Given the description of an element on the screen output the (x, y) to click on. 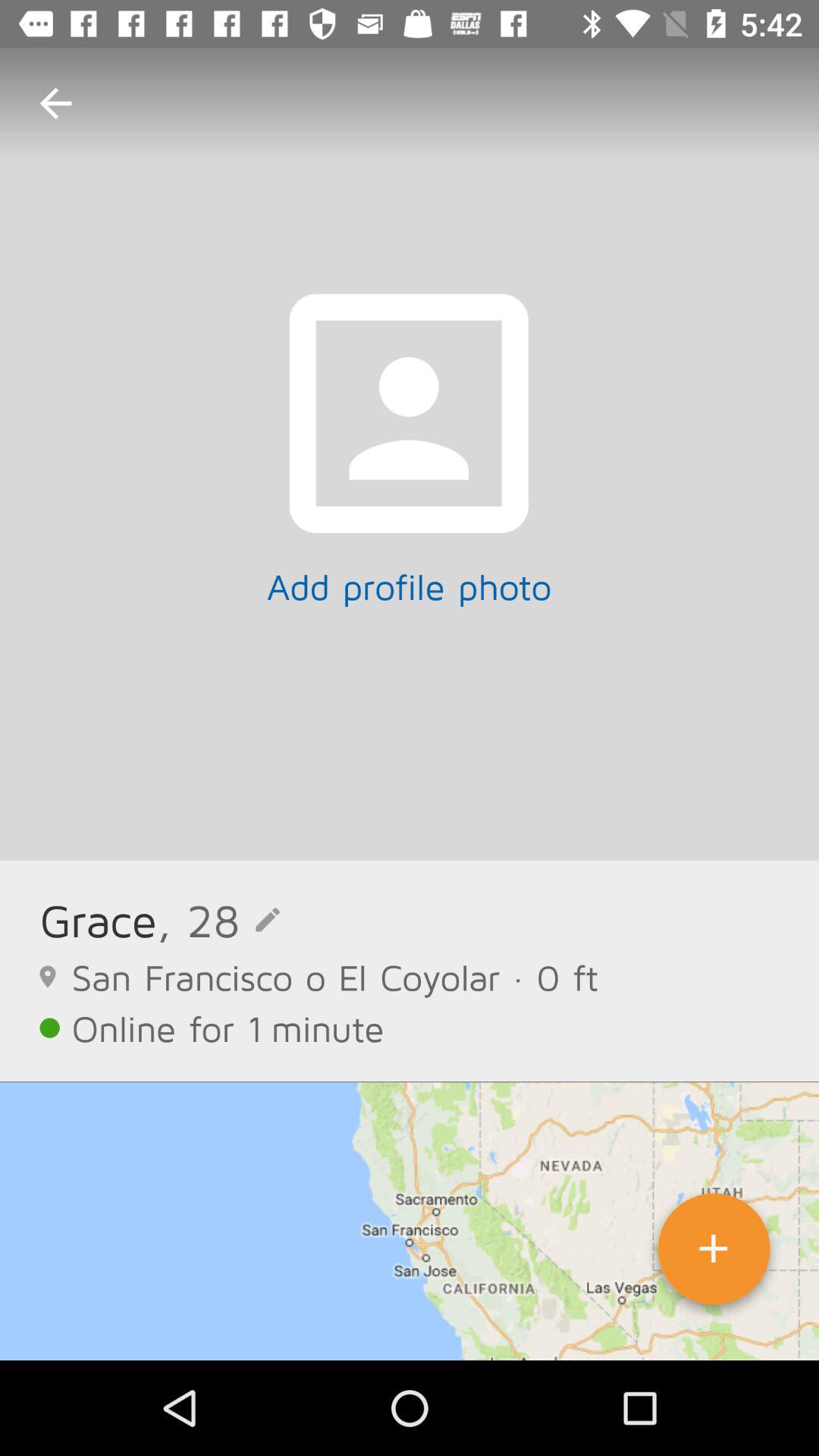
choose icon at the bottom right corner (713, 1254)
